Given the description of an element on the screen output the (x, y) to click on. 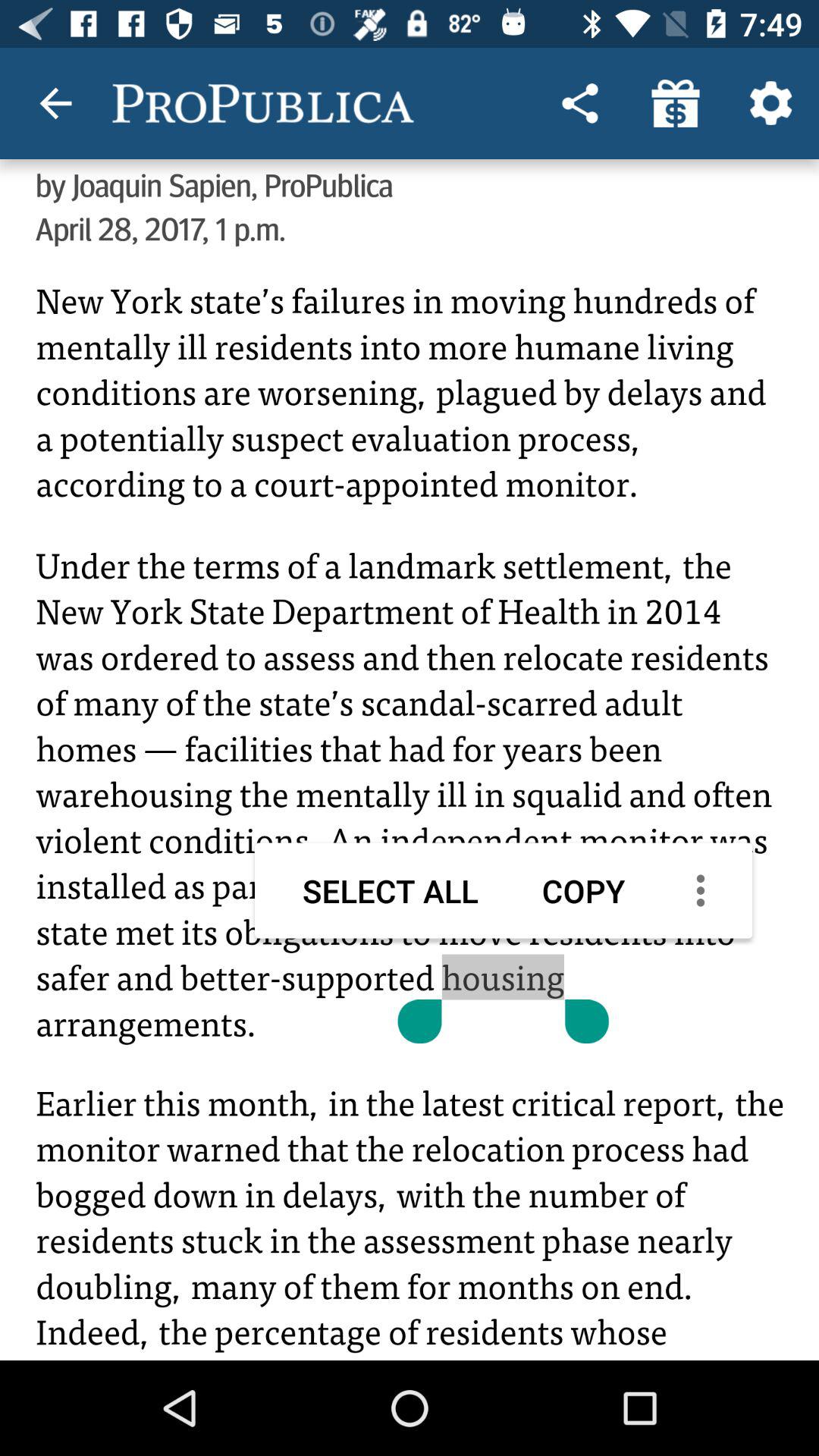
share the article (409, 804)
